Given the description of an element on the screen output the (x, y) to click on. 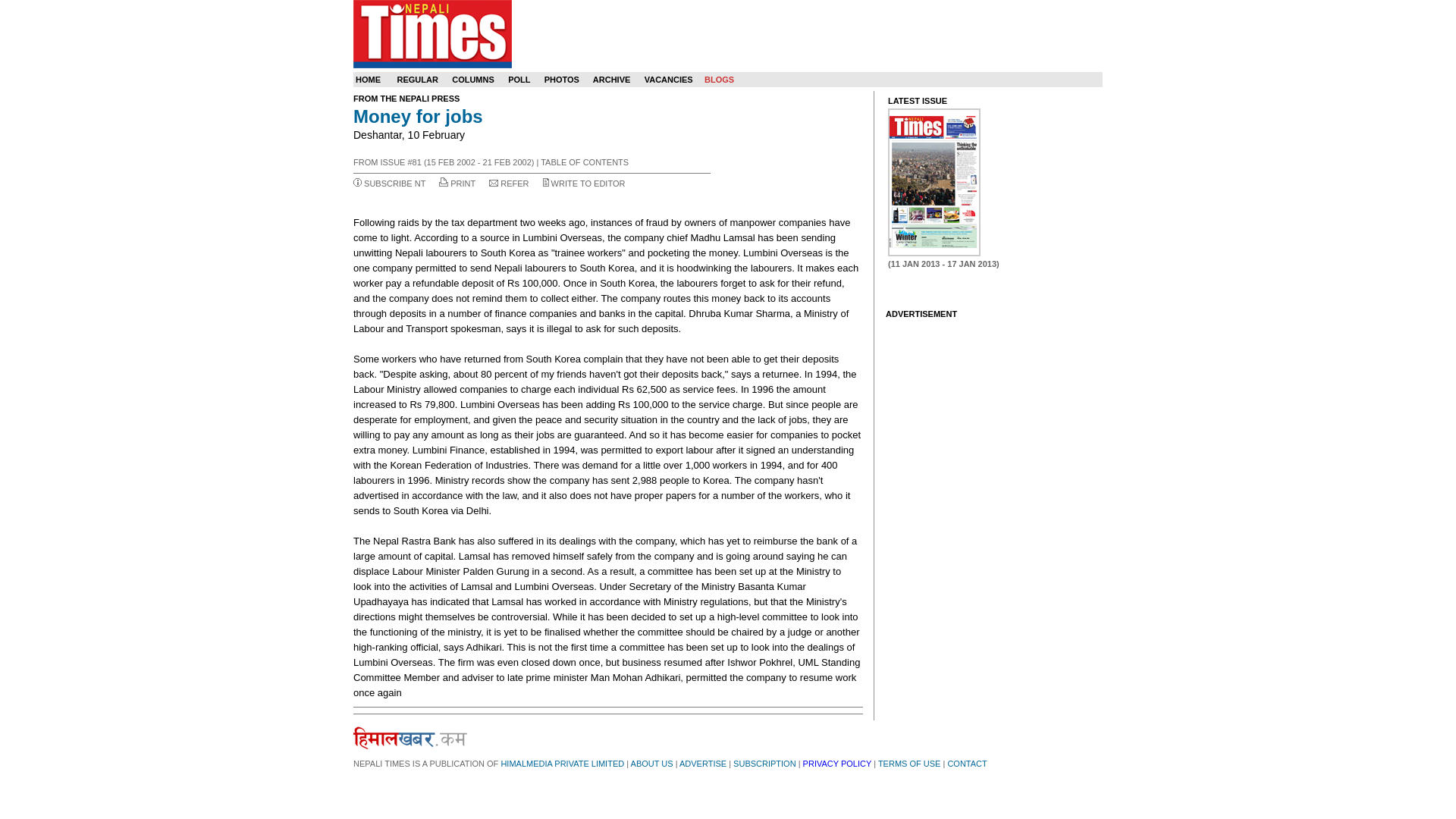
SUBSCRIBE NT (394, 183)
HIMALMEDIA PRIVATE LIMITED (562, 763)
ADVERTISE (702, 763)
PRINT (463, 183)
REGULAR (417, 79)
Nepali Times (432, 33)
HOME (367, 79)
REFER (514, 183)
ARCHIVE (611, 79)
TERMS OF USE (908, 763)
